Given the description of an element on the screen output the (x, y) to click on. 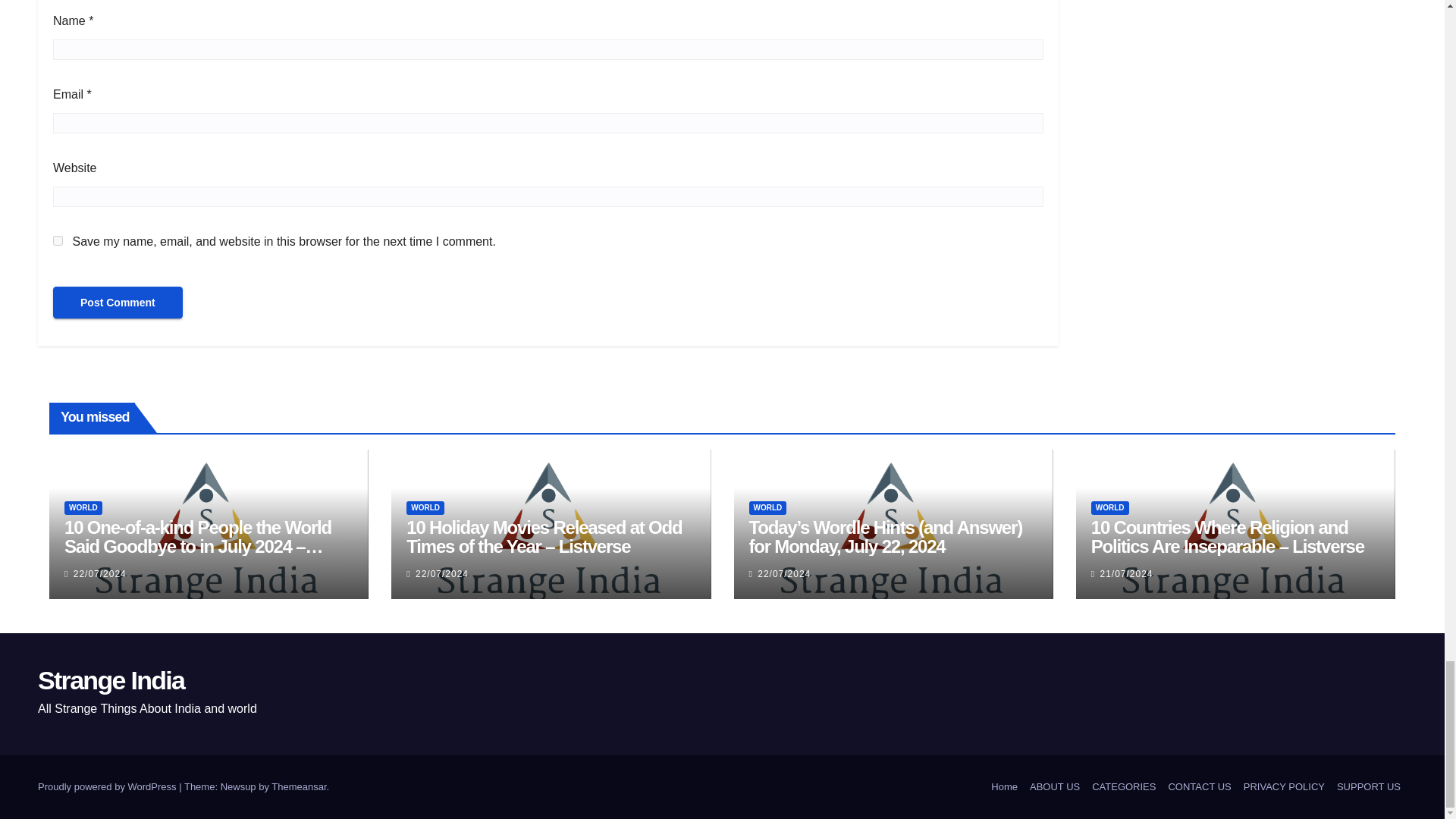
yes (57, 240)
Post Comment (117, 302)
